Given the description of an element on the screen output the (x, y) to click on. 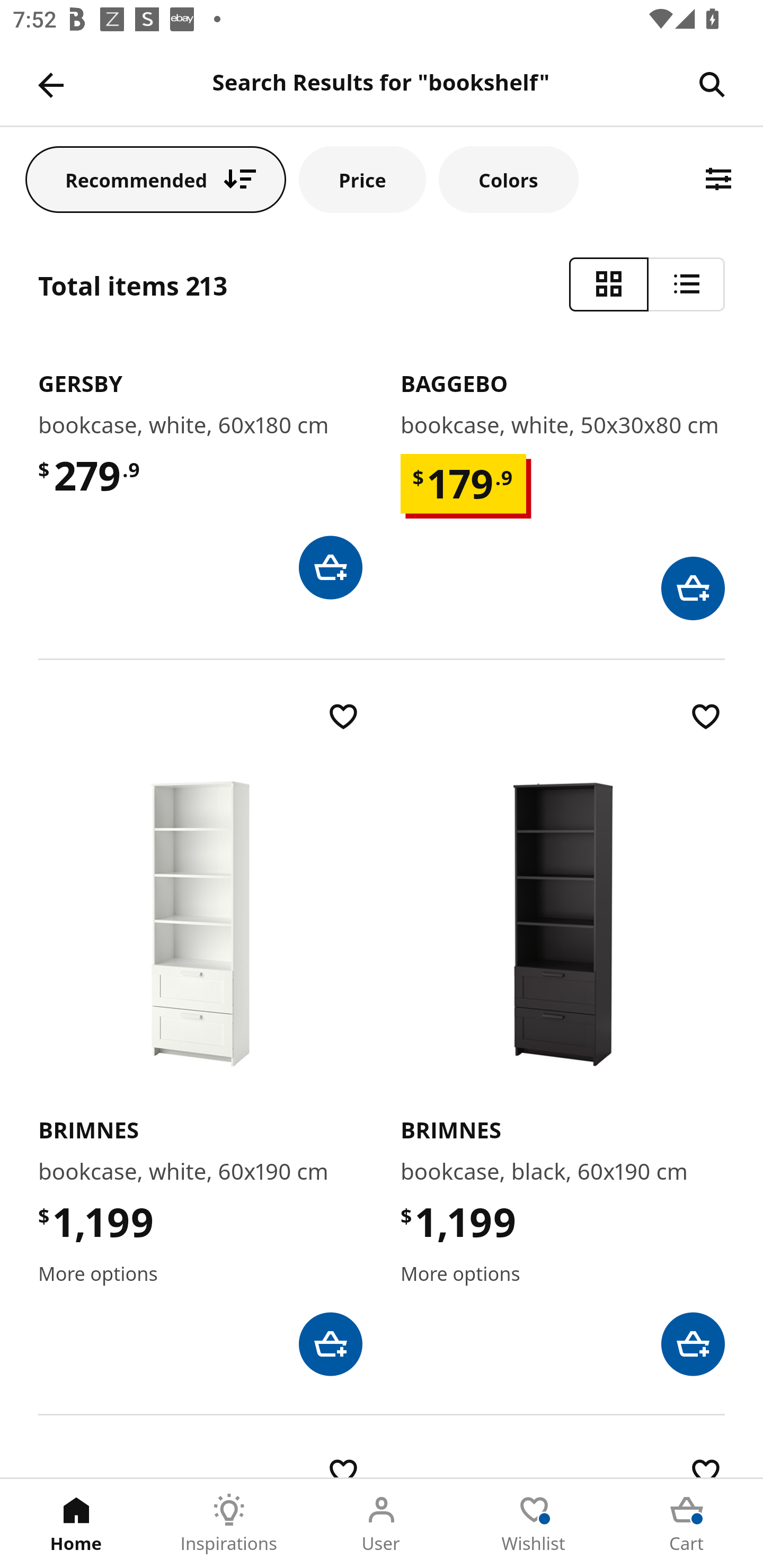
Recommended (155, 179)
Price (362, 179)
Colors (508, 179)
​G​E​R​S​B​Y​
bookcase, white, 60x180 cm
$
279
.9 (200, 473)
Home
Tab 1 of 5 (76, 1522)
Inspirations
Tab 2 of 5 (228, 1522)
User
Tab 3 of 5 (381, 1522)
Wishlist
Tab 4 of 5 (533, 1522)
Cart
Tab 5 of 5 (686, 1522)
